Given the description of an element on the screen output the (x, y) to click on. 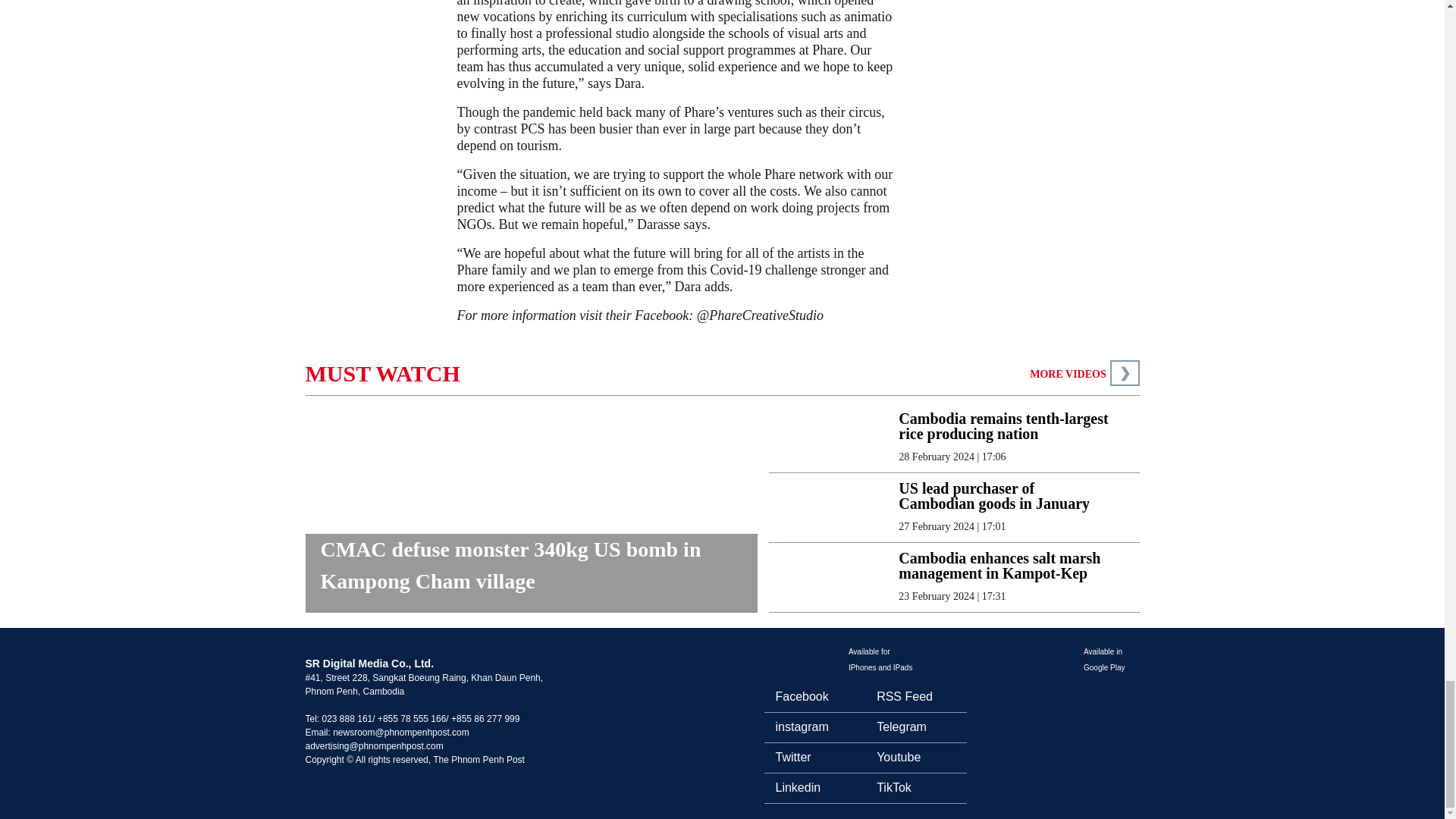
MORE VIDEOS (1067, 374)
CMAC defuse monster 340kg US bomb in Kampong Cham village (530, 572)
Cambodia remains tenth-largest rice producing nation (1005, 426)
